Given the description of an element on the screen output the (x, y) to click on. 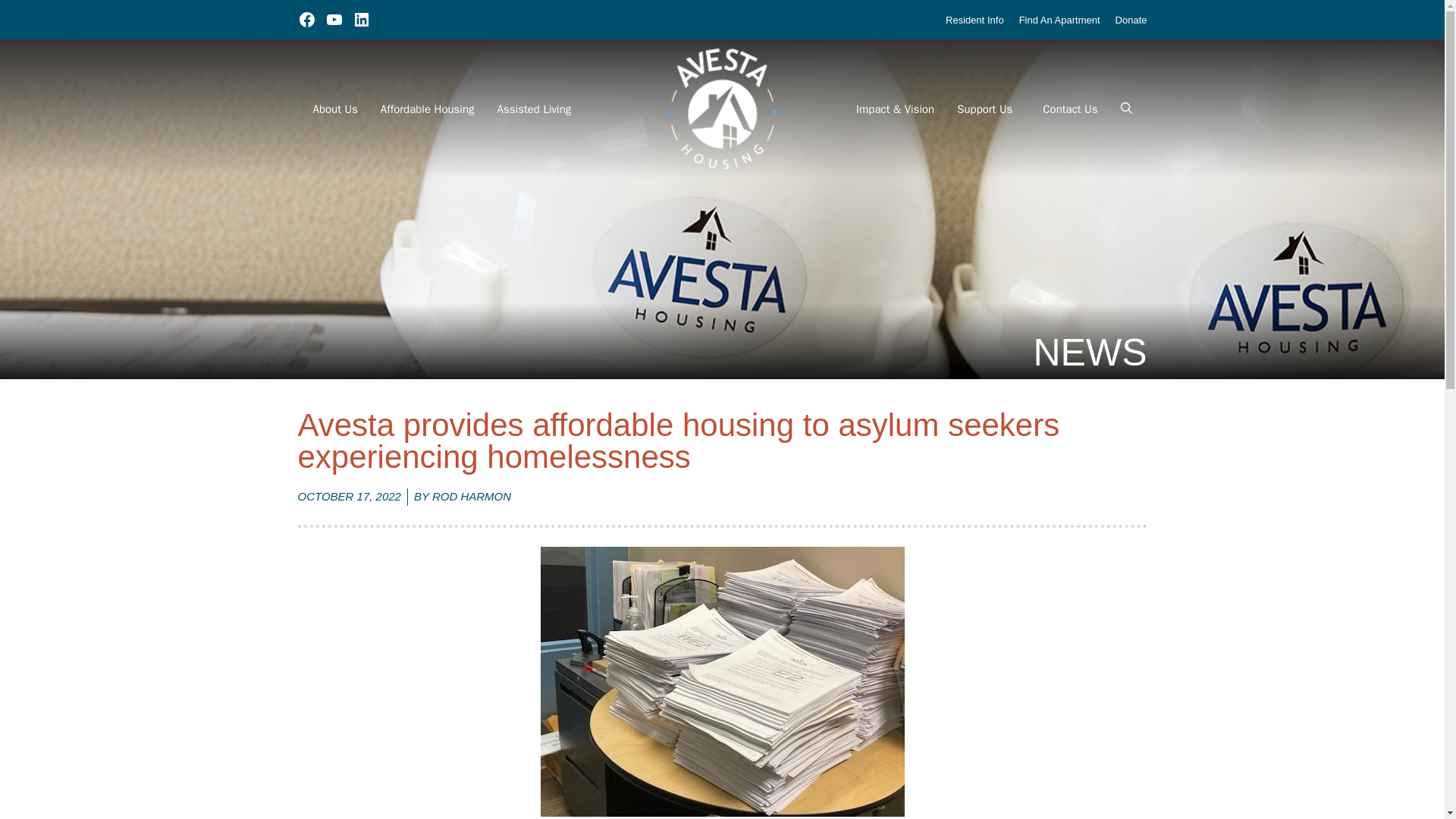
Resident Info (974, 19)
Contact Us (1066, 108)
About Us (331, 108)
Find An Apartment (1059, 19)
Affordable Housing (423, 108)
Assisted Living (530, 108)
Support Us (984, 108)
Donate (1131, 19)
